Given the description of an element on the screen output the (x, y) to click on. 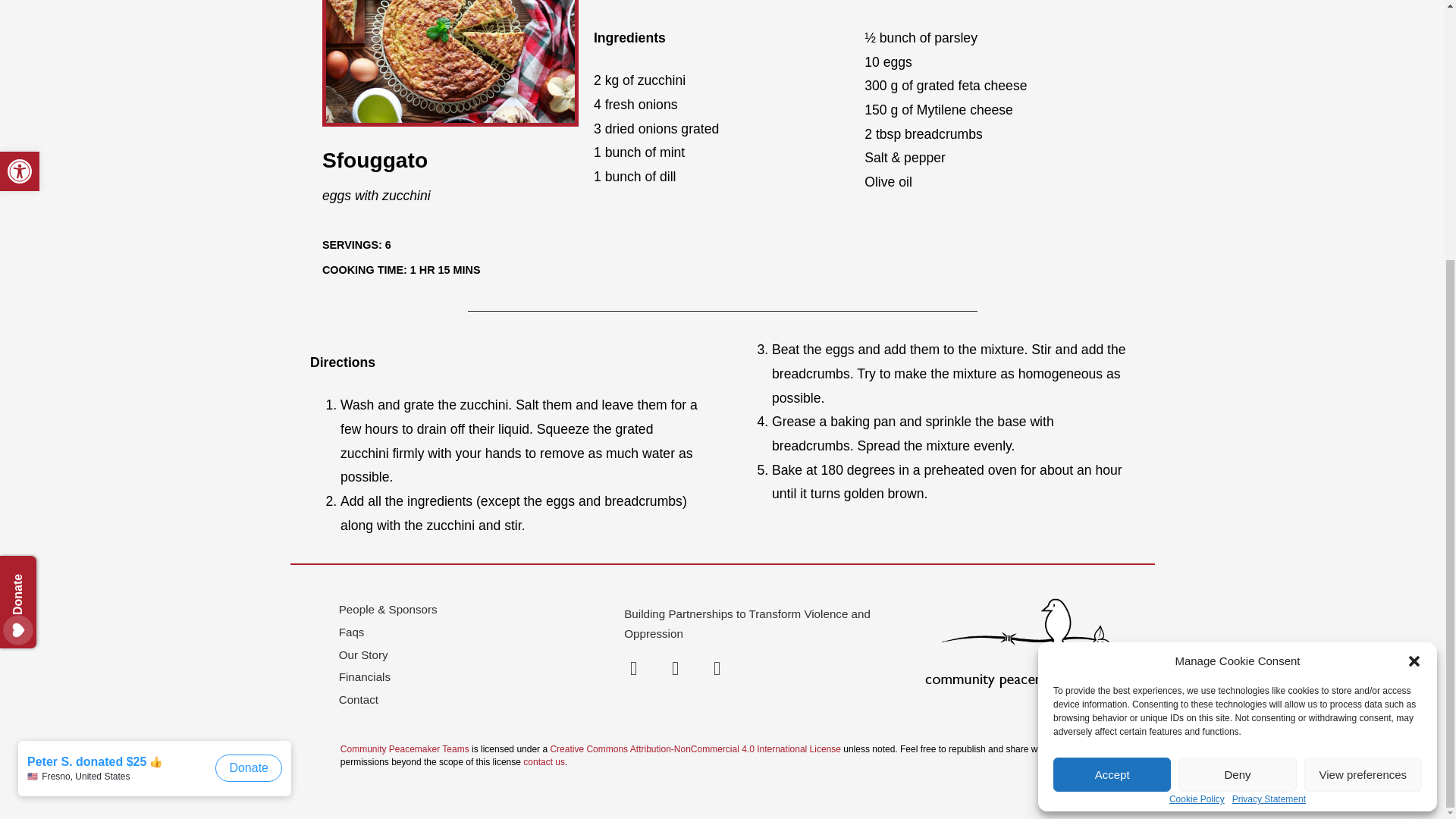
View preferences (1363, 401)
Donation Activity Popup (158, 403)
Accept (1111, 401)
Cookie Policy (1196, 426)
Deny (1236, 401)
Persistent Donate Button (48, 200)
